Given the description of an element on the screen output the (x, y) to click on. 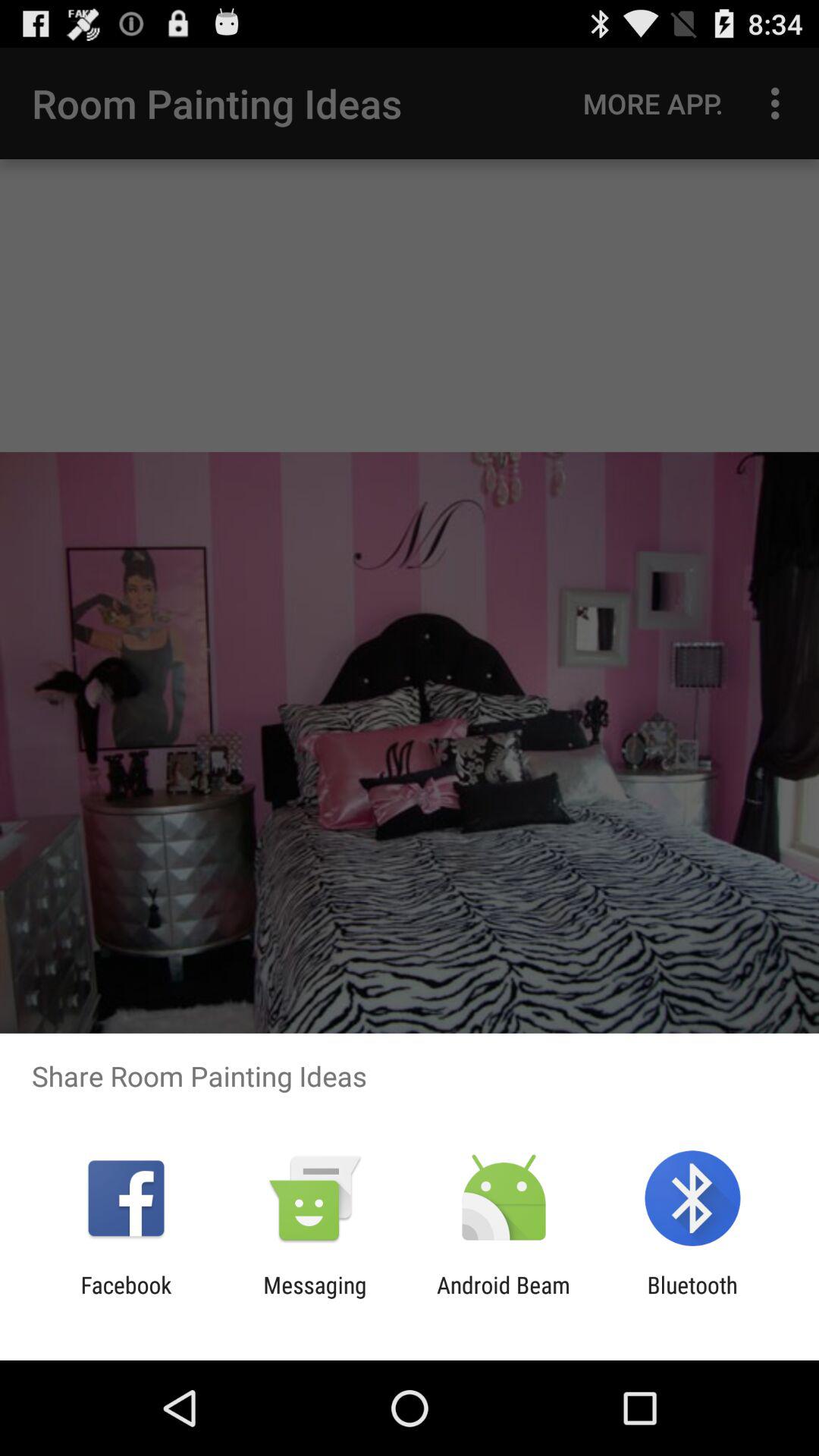
choose the app next to the android beam icon (692, 1298)
